Given the description of an element on the screen output the (x, y) to click on. 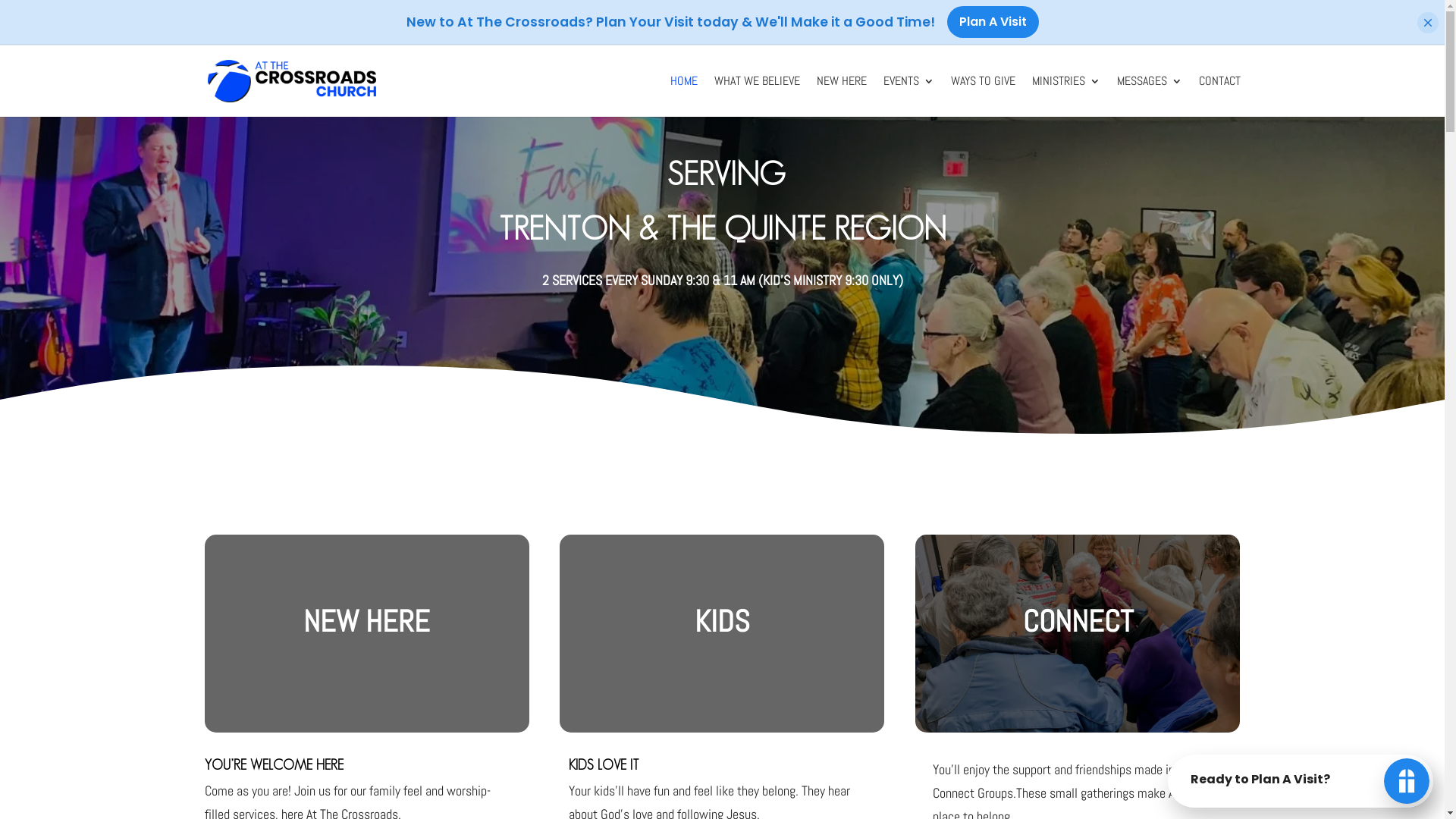
MINISTRIES Element type: text (1065, 95)
NEW HERE Element type: text (840, 95)
WAYS TO GIVE Element type: text (982, 95)
HOME Element type: text (683, 95)
MESSAGES Element type: text (1148, 95)
EVENTS Element type: text (907, 95)
WHAT WE BELIEVE Element type: text (757, 95)
CONTACT Element type: text (1218, 95)
